Given the description of an element on the screen output the (x, y) to click on. 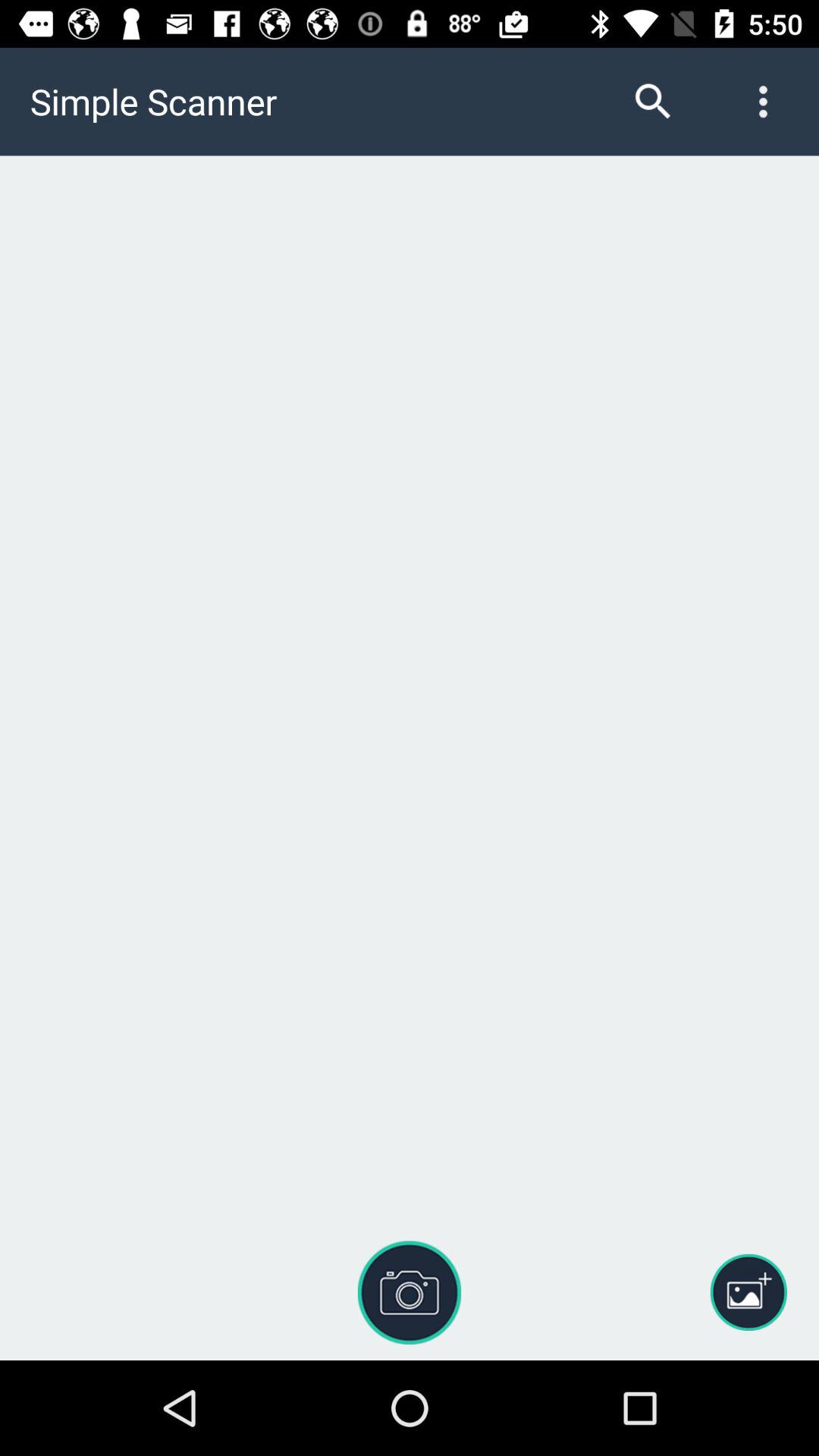
choose the icon at the bottom right corner (748, 1292)
